Given the description of an element on the screen output the (x, y) to click on. 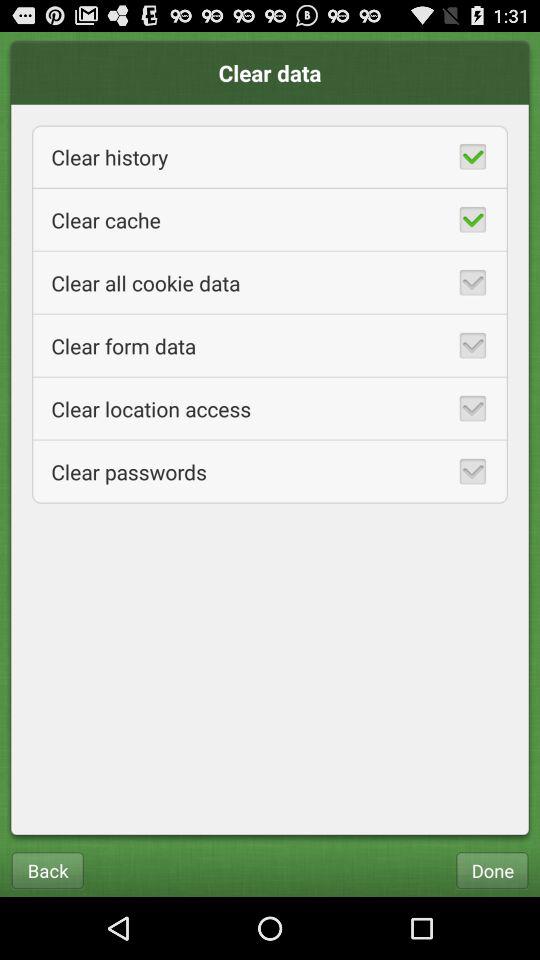
swipe until the back item (47, 870)
